Given the description of an element on the screen output the (x, y) to click on. 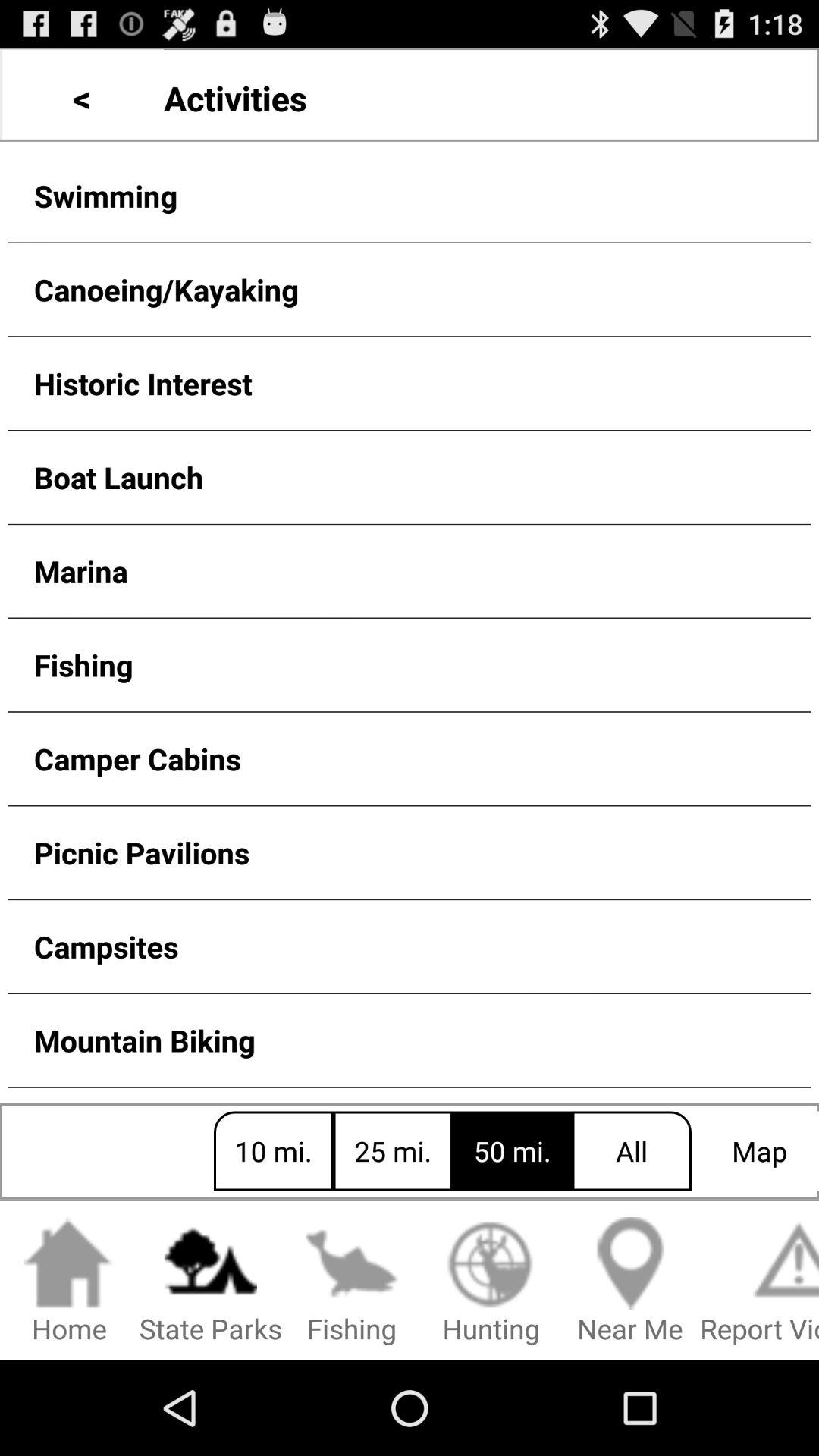
press the state parks (210, 1282)
